Given the description of an element on the screen output the (x, y) to click on. 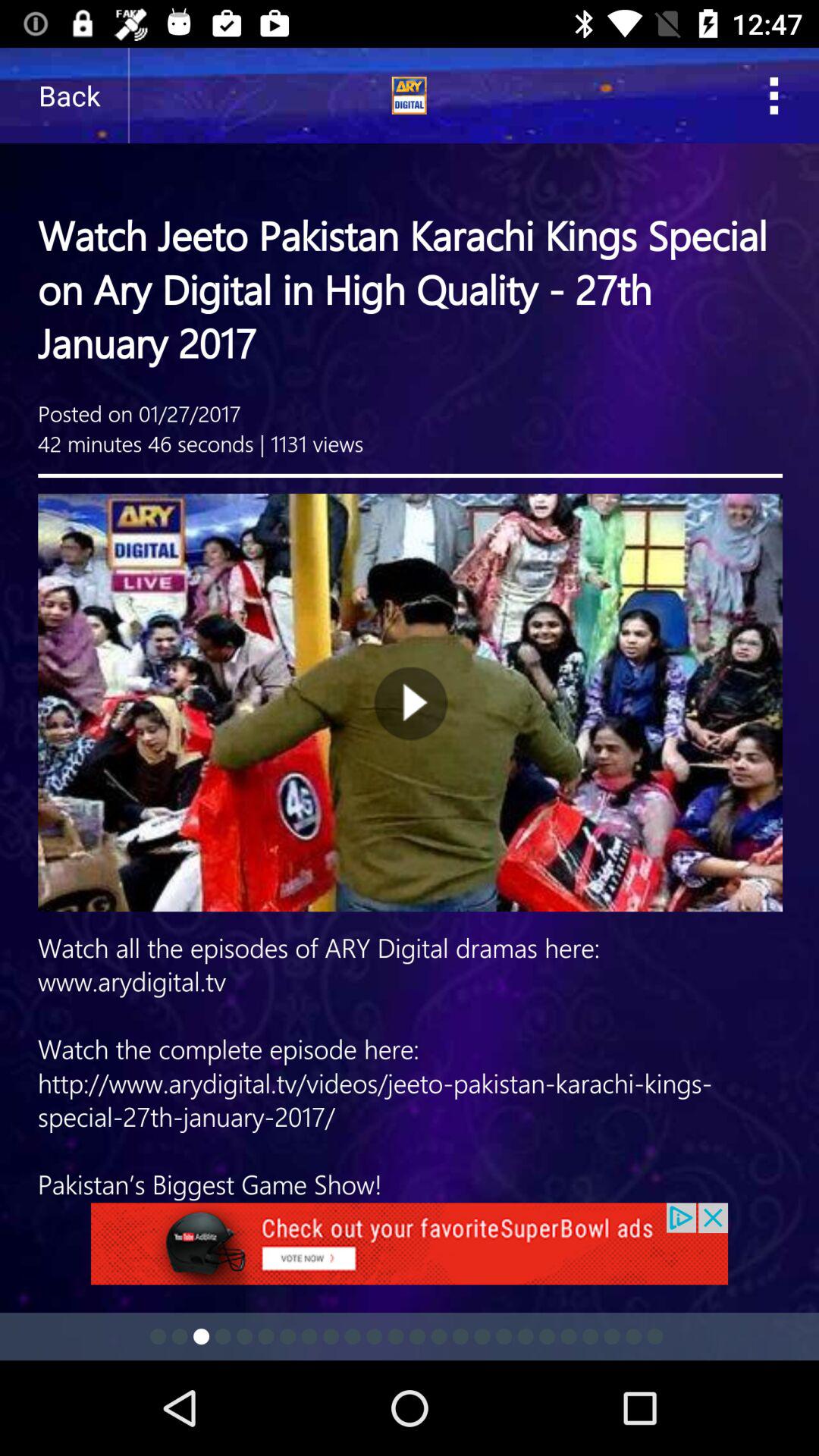
vedio page (409, 624)
